Given the description of an element on the screen output the (x, y) to click on. 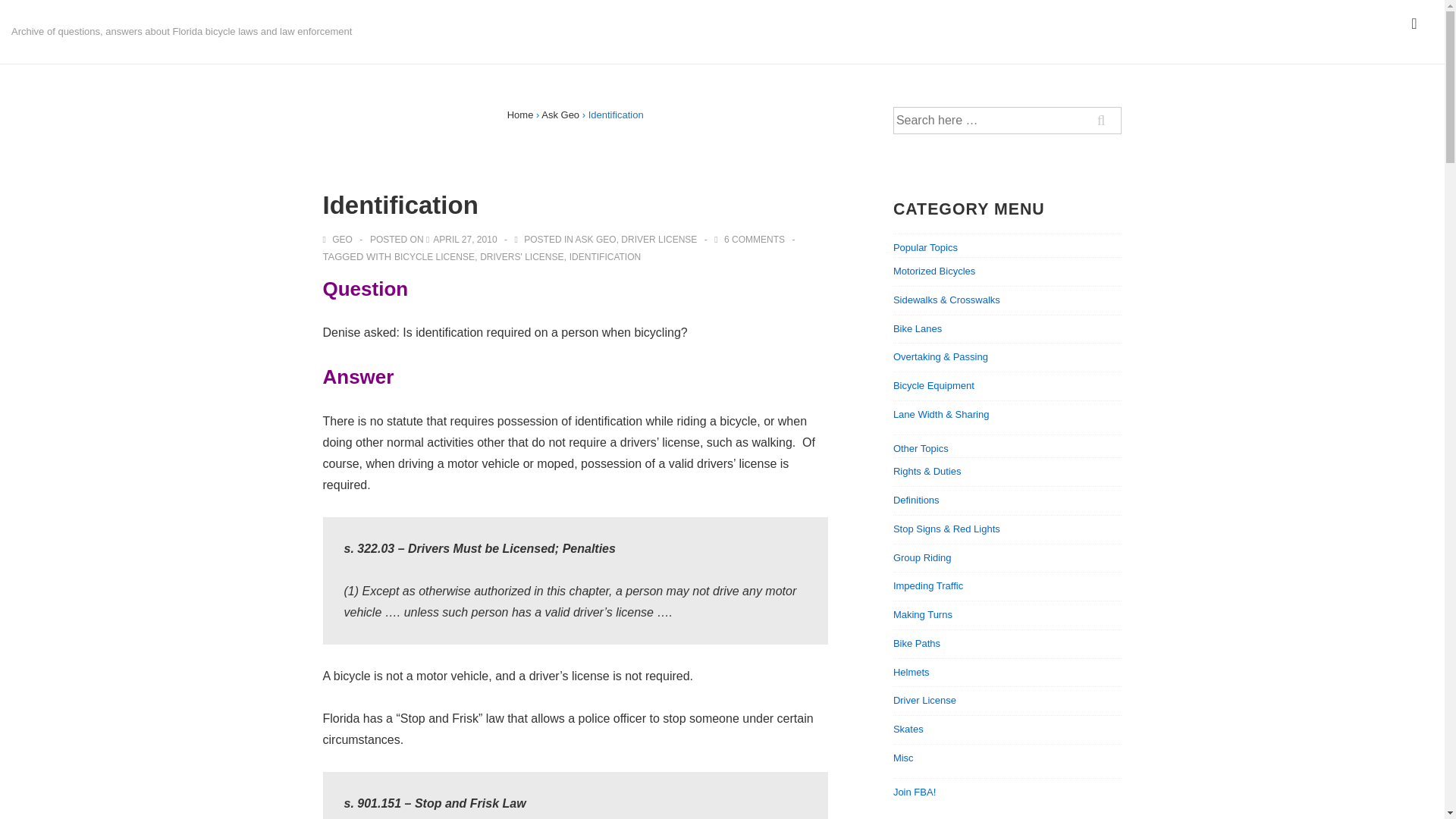
DRIVER LICENSE (659, 239)
BICYCLE LICENSE (434, 256)
MENU (1414, 23)
IDENTIFICATION (604, 256)
Home (520, 114)
View all posts by Geo (339, 239)
ASK GEO (595, 239)
Ask Geo (560, 114)
DRIVERS' LICENSE (521, 256)
GEO (339, 239)
APRIL 27, 2010 (464, 239)
6 COMMENTS (753, 239)
Identification (464, 239)
